Given the description of an element on the screen output the (x, y) to click on. 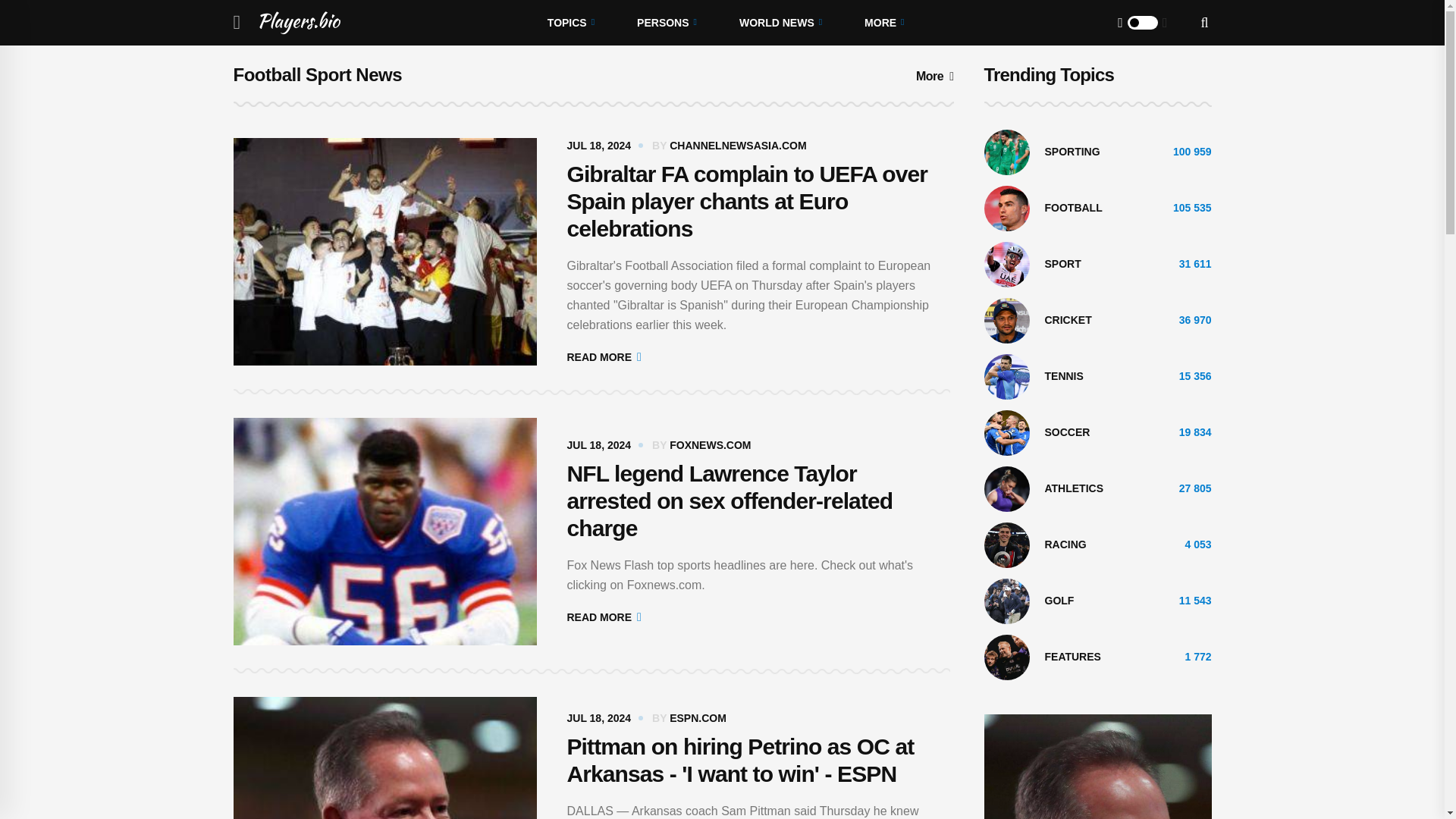
WORLD NEWS (780, 22)
Topics (570, 22)
TOPICS (570, 22)
PERSONS (666, 22)
Persons (666, 22)
MORE (883, 22)
